Given the description of an element on the screen output the (x, y) to click on. 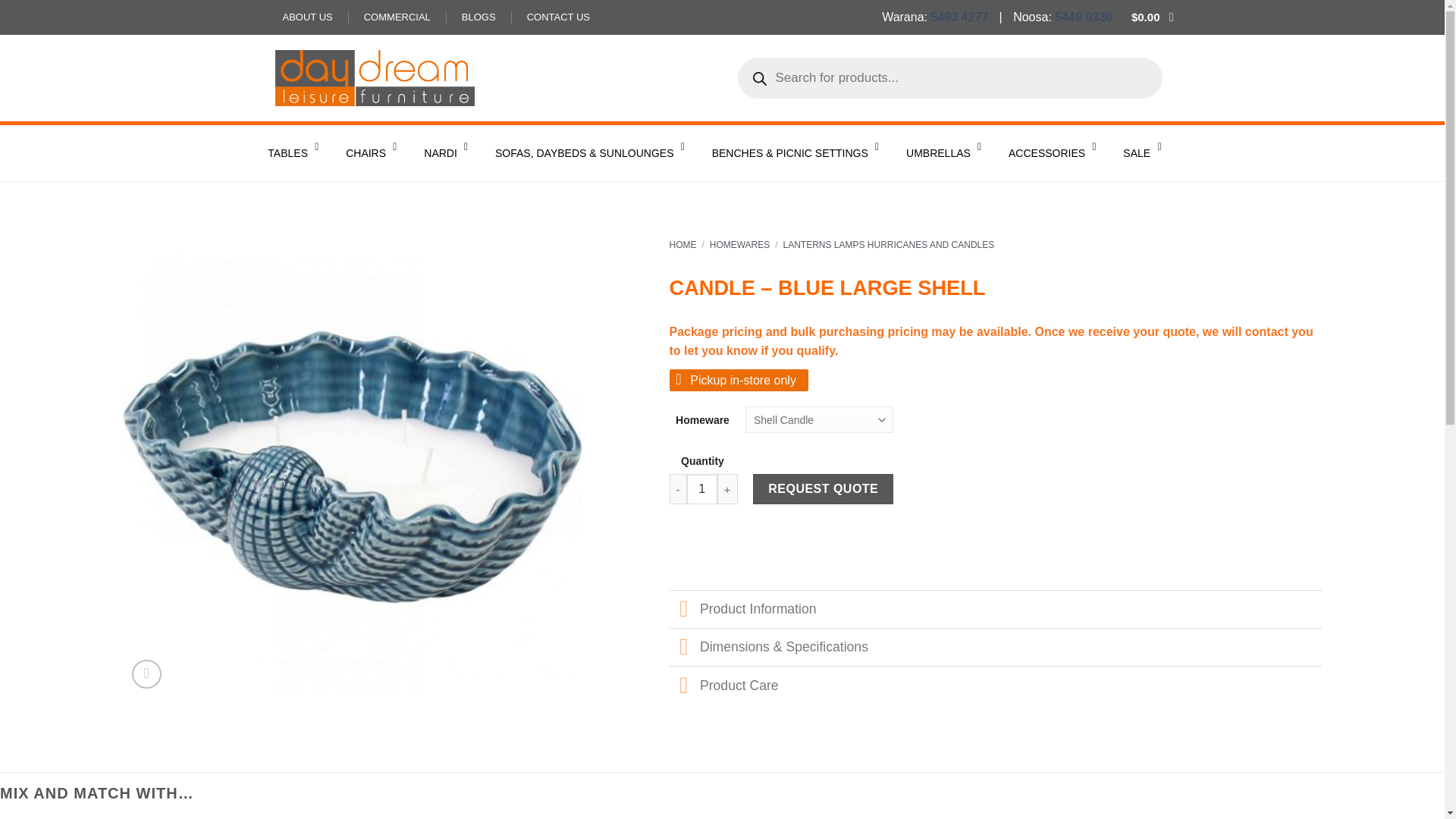
BLOGS (478, 17)
5449 9336 (1083, 16)
COMMERCIAL (397, 17)
Zoom (146, 674)
Qty (702, 489)
ABOUT US (306, 17)
5493 4277 (959, 16)
CONTACT US (558, 17)
1 (702, 489)
